Given the description of an element on the screen output the (x, y) to click on. 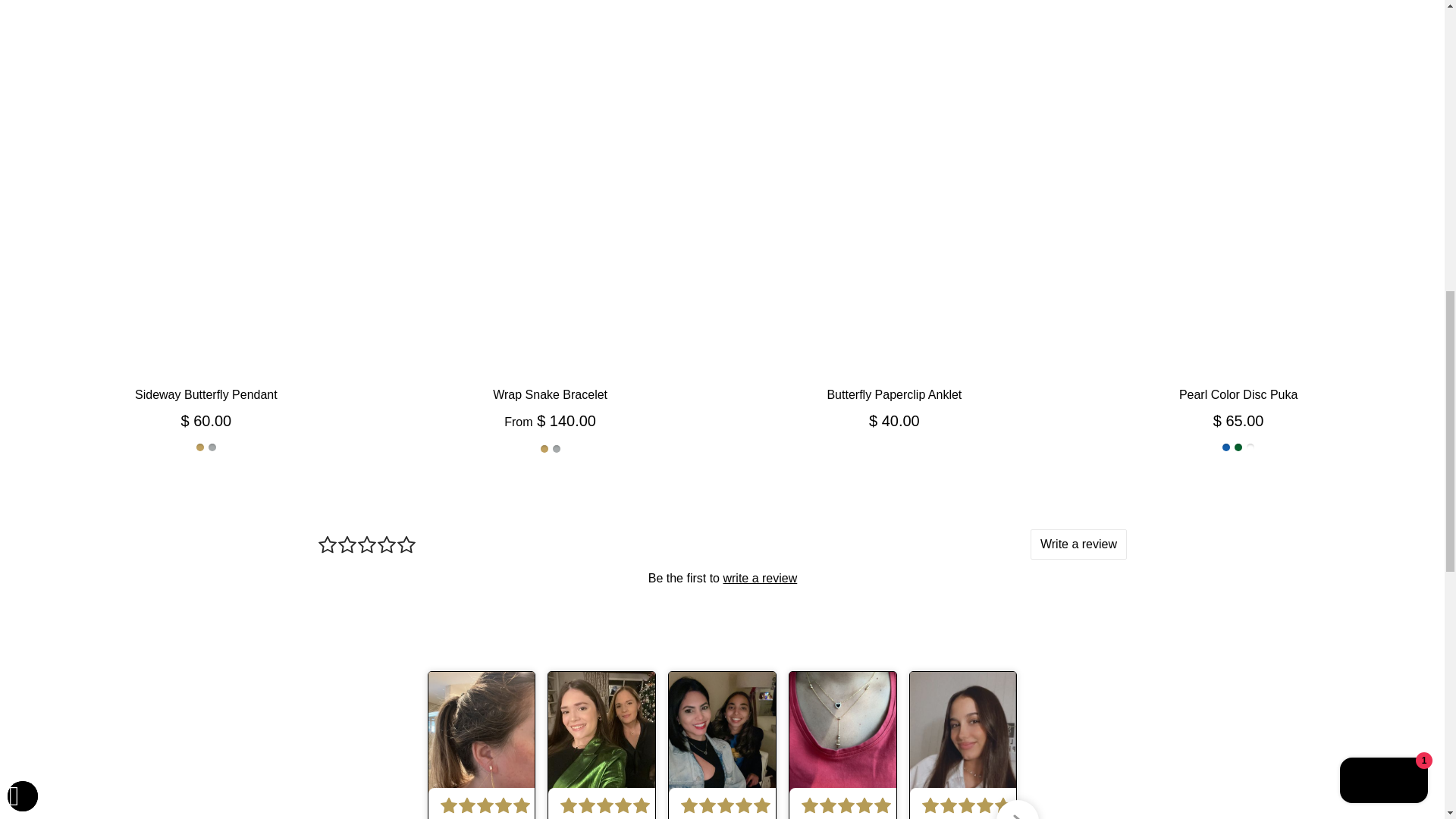
Product reviews widget (722, 577)
